Given the description of an element on the screen output the (x, y) to click on. 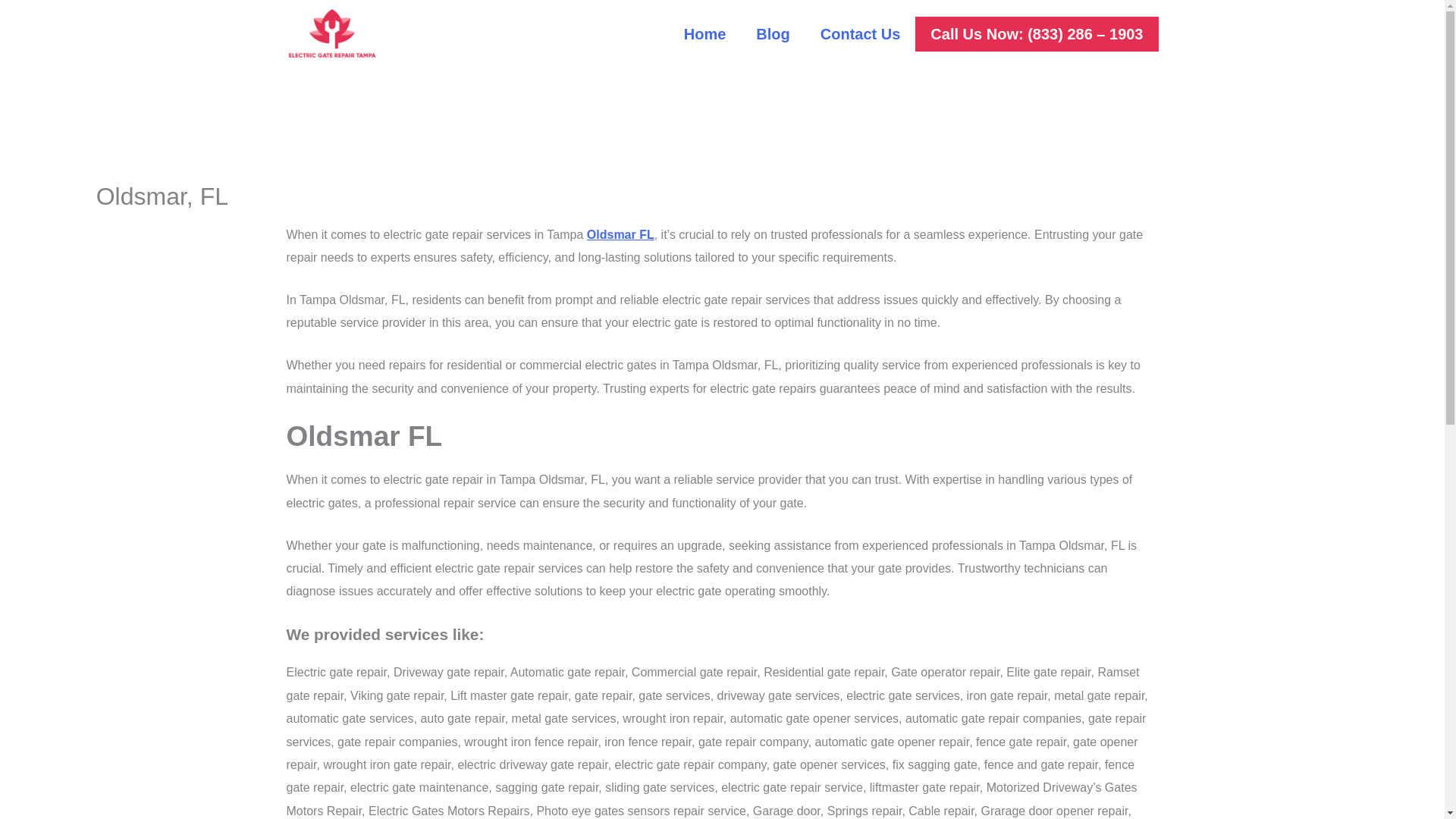
Home (704, 33)
Oldsmar FL (619, 234)
Contact Us (860, 33)
Blog (773, 33)
